Given the description of an element on the screen output the (x, y) to click on. 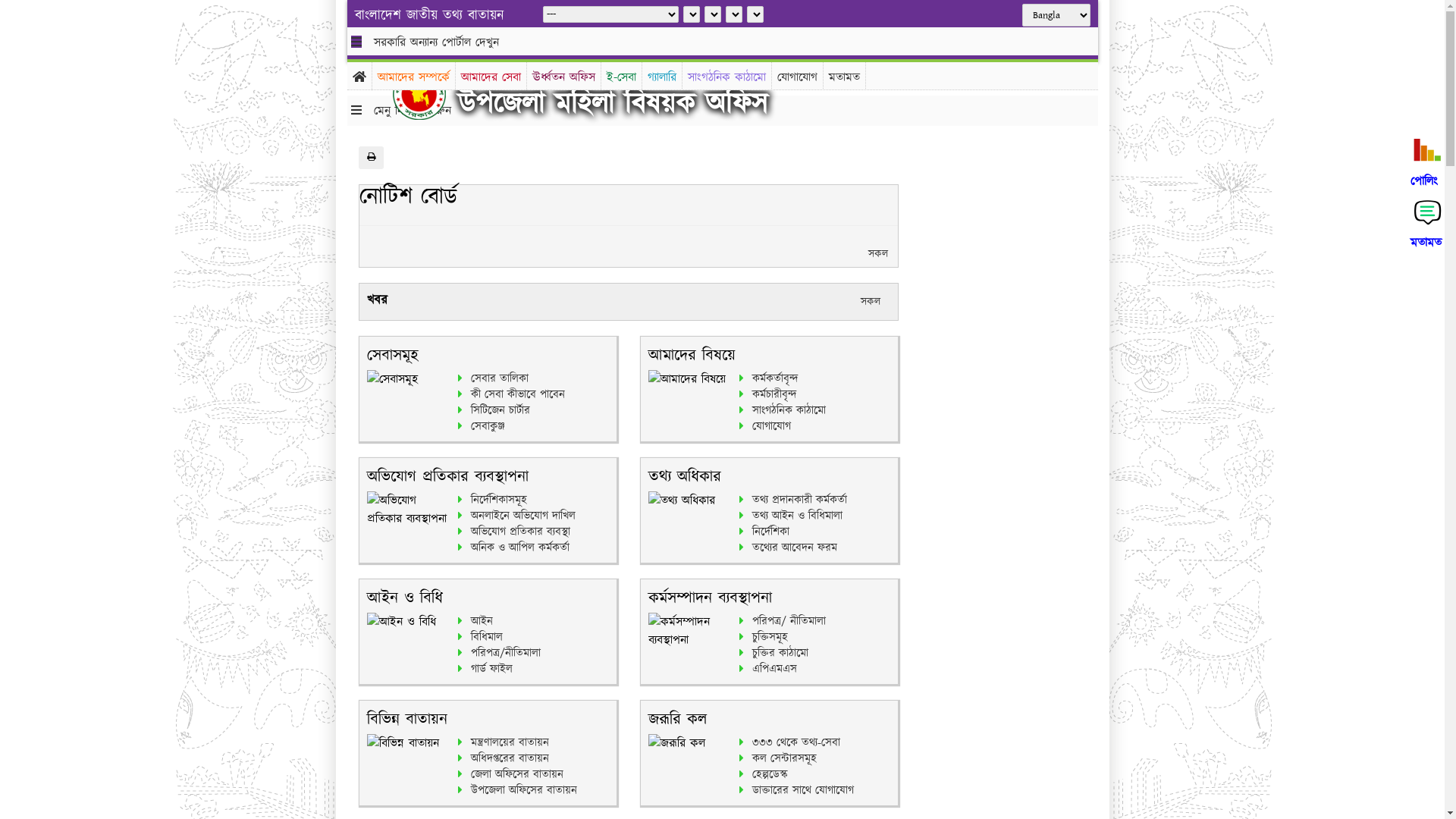

                
             Element type: hover (430, 93)
